Given the description of an element on the screen output the (x, y) to click on. 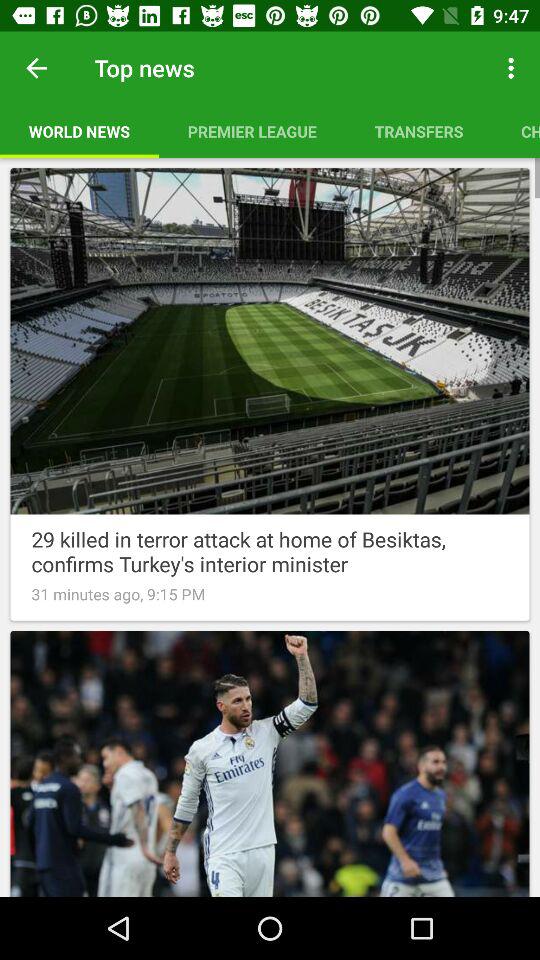
turn on the icon next to transfers item (251, 131)
